Given the description of an element on the screen output the (x, y) to click on. 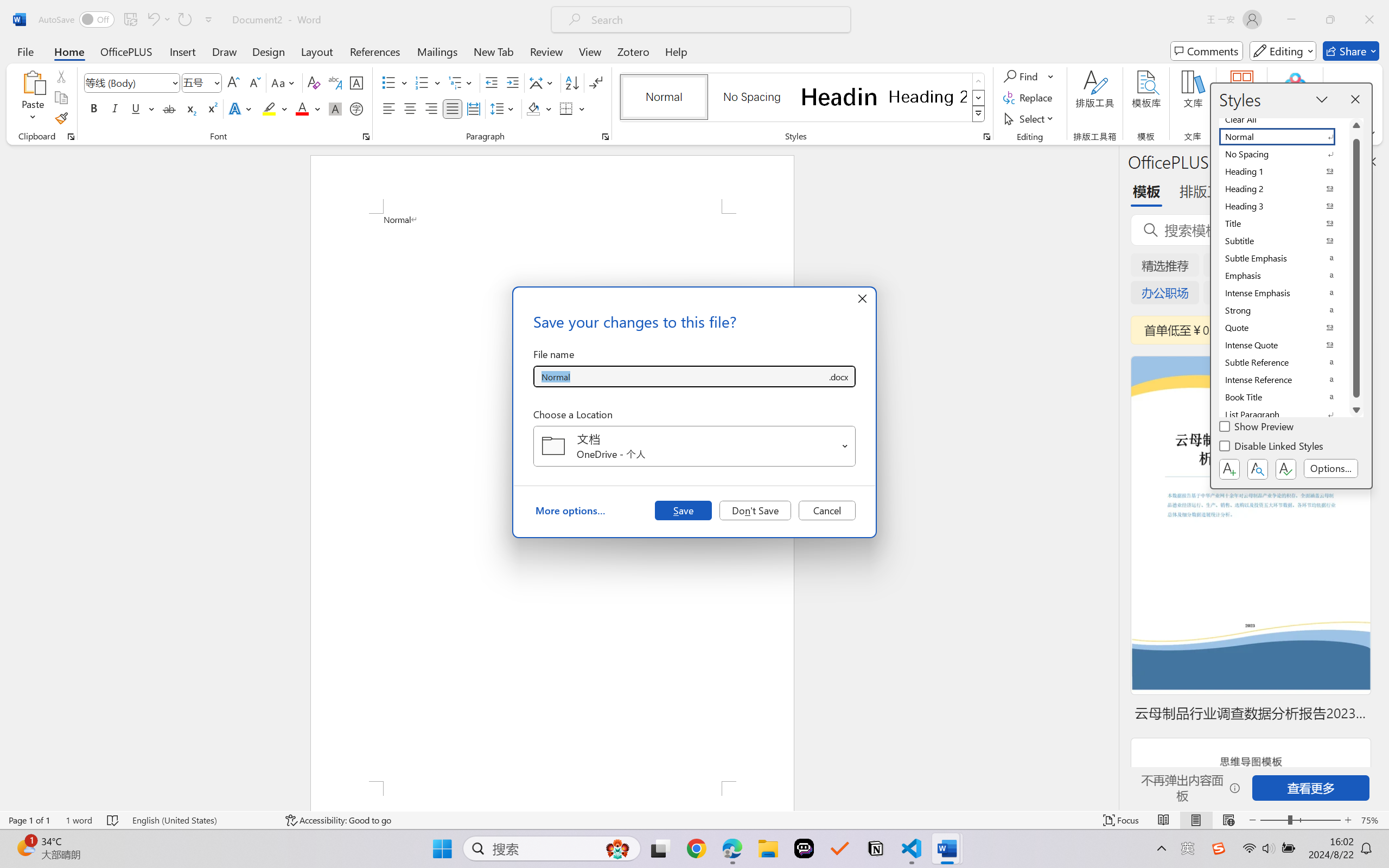
Layout (316, 51)
Comments (1206, 50)
Font Color Red (302, 108)
Font (126, 82)
Shading RGB(0, 0, 0) (533, 108)
Read Mode (1163, 819)
Subscript (190, 108)
Mailings (437, 51)
Choose a Location (694, 446)
